Given the description of an element on the screen output the (x, y) to click on. 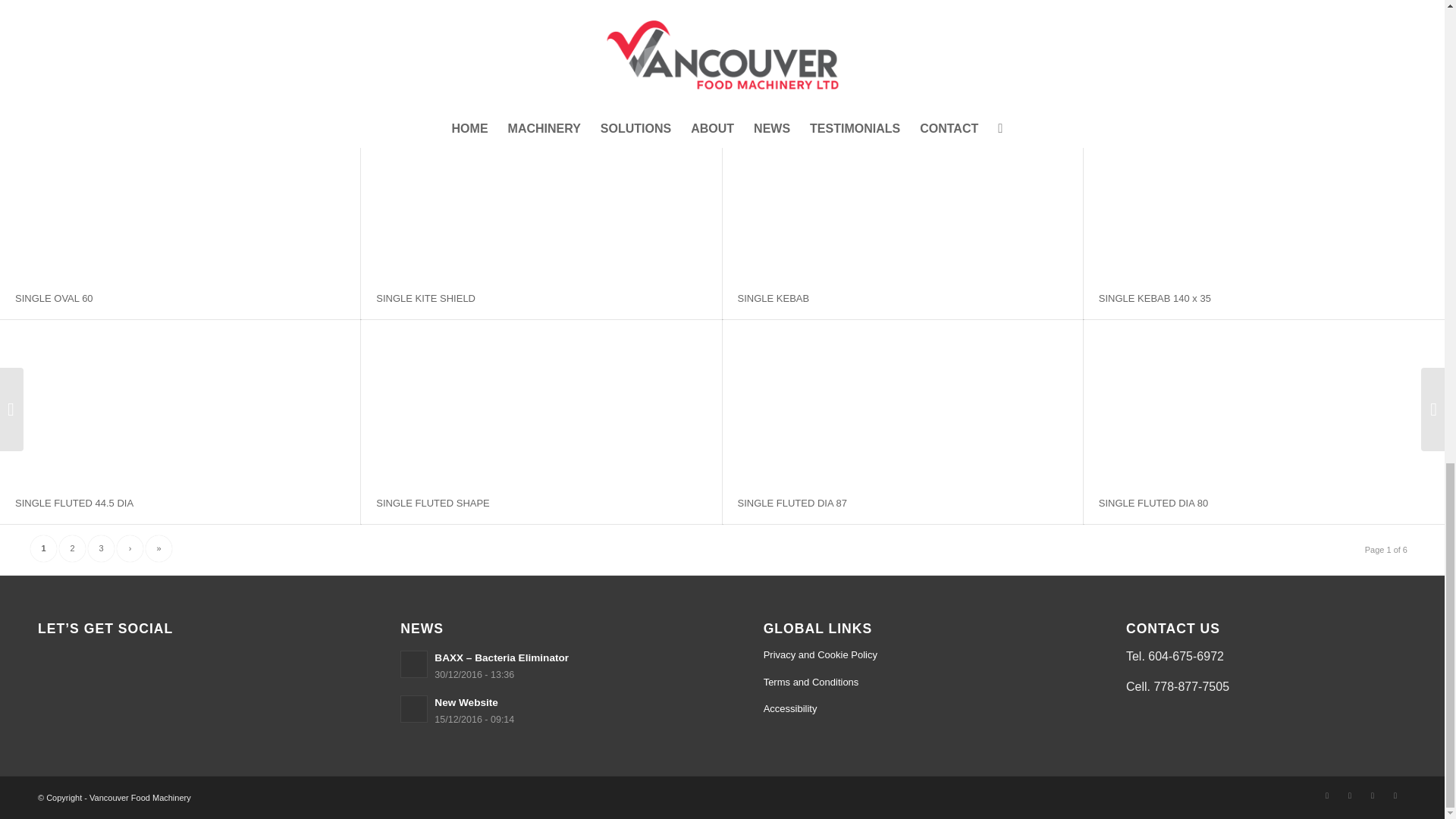
SINGLE STRIPPED BURGER 110 x 70 (101, 93)
